Given the description of an element on the screen output the (x, y) to click on. 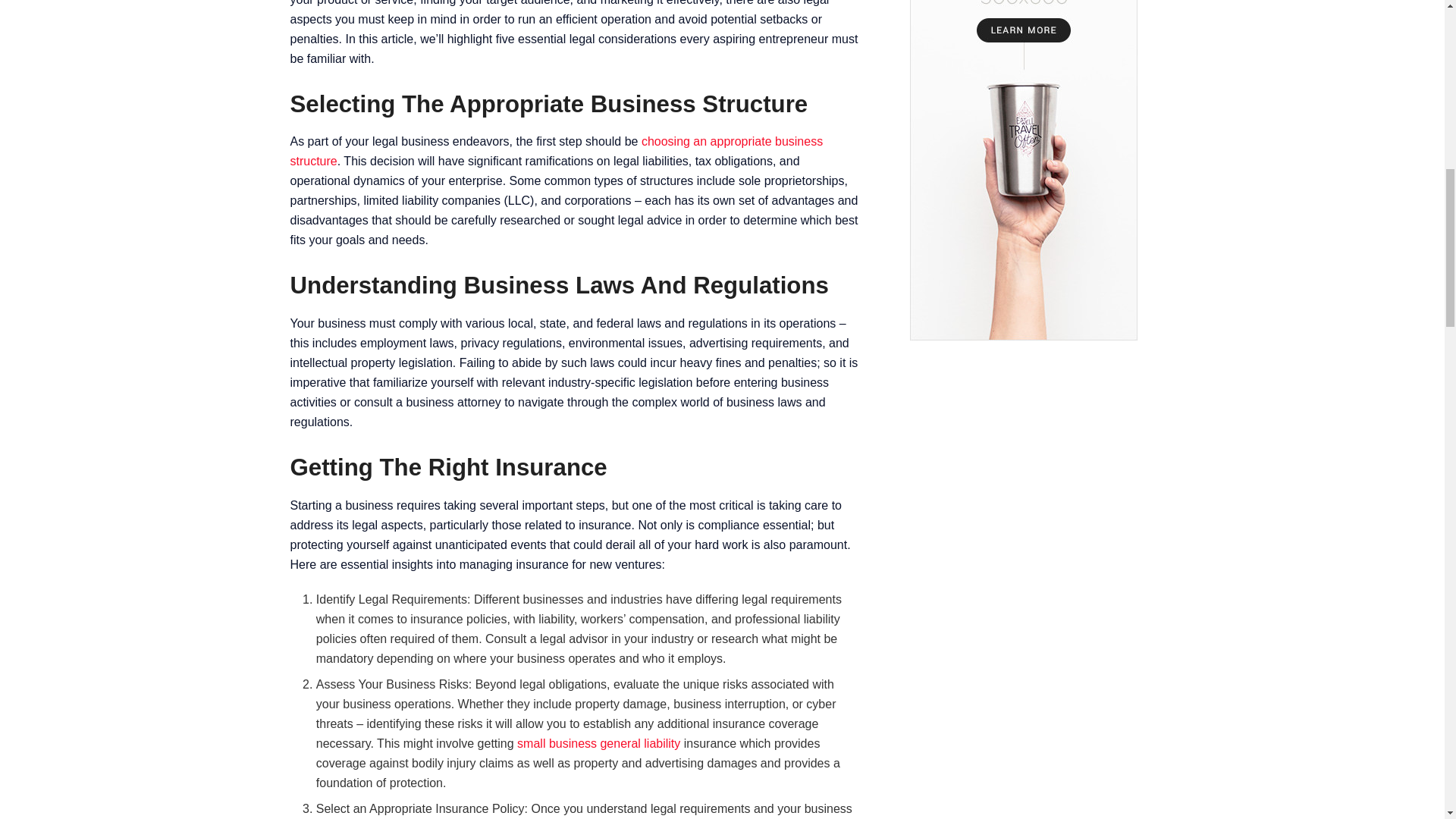
small business general liability (597, 743)
choosing an appropriate business structure (555, 151)
